Given the description of an element on the screen output the (x, y) to click on. 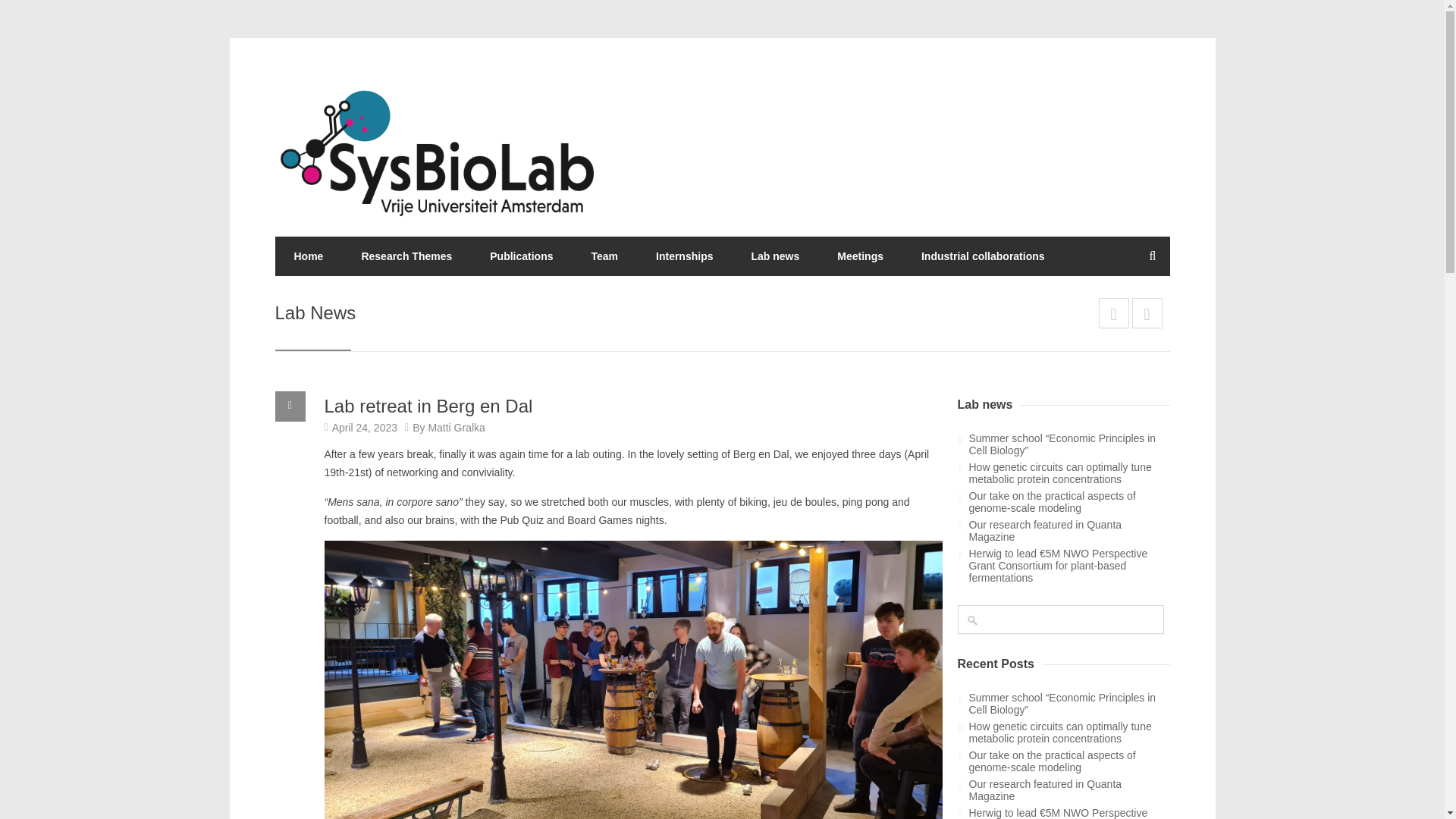
April 24, 2023 (364, 427)
Industrial collaborations (983, 256)
11:40 pm (364, 427)
Our research featured in Quanta Magazine (1069, 530)
Our take on the practical aspects of genome-scale modeling (1069, 761)
Publications (521, 256)
Research Themes (406, 256)
Permalink to Lab retreat in Berg en Dal (428, 405)
Home (308, 256)
Meetings (860, 256)
Internships (684, 256)
Our take on the practical aspects of genome-scale modeling (1069, 501)
Matti Gralka (456, 427)
